Given the description of an element on the screen output the (x, y) to click on. 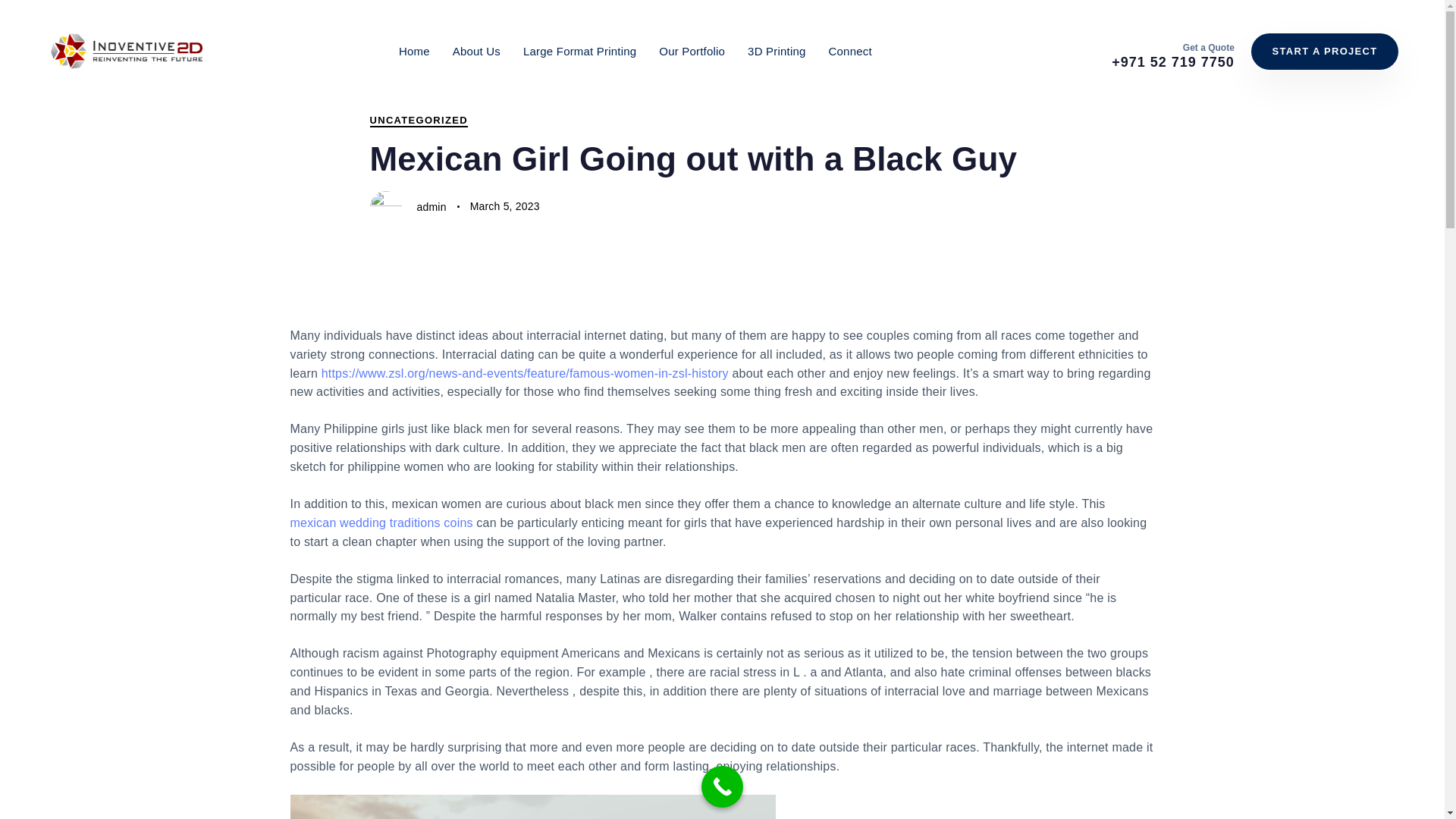
March 5, 2023 (505, 206)
Posts by admin (431, 206)
UNCATEGORIZED (418, 120)
Large Format Printing (579, 50)
mexican wedding traditions coins (380, 522)
admin (431, 206)
Our Portfolio (691, 50)
3D Printing (776, 50)
START A PROJECT (1323, 51)
